Given the description of an element on the screen output the (x, y) to click on. 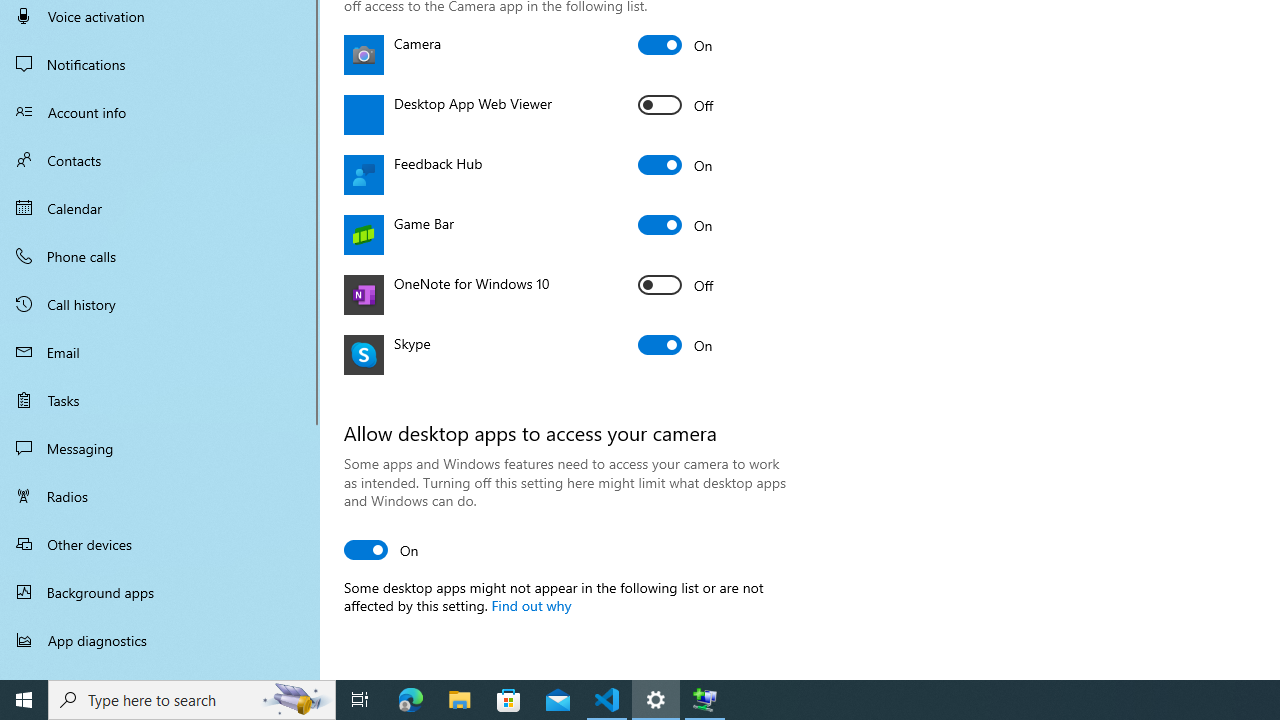
Account info (160, 111)
Email (160, 351)
Extensible Wizards Host Process - 1 running window (704, 699)
Other devices (160, 543)
Feedback Hub (675, 164)
Camera (675, 44)
Game Bar (675, 224)
Allow desktop apps to access your camera (381, 549)
Tasks (160, 399)
Contacts (160, 160)
Desktop App Web Viewer (675, 104)
Phone calls (160, 255)
